Given the description of an element on the screen output the (x, y) to click on. 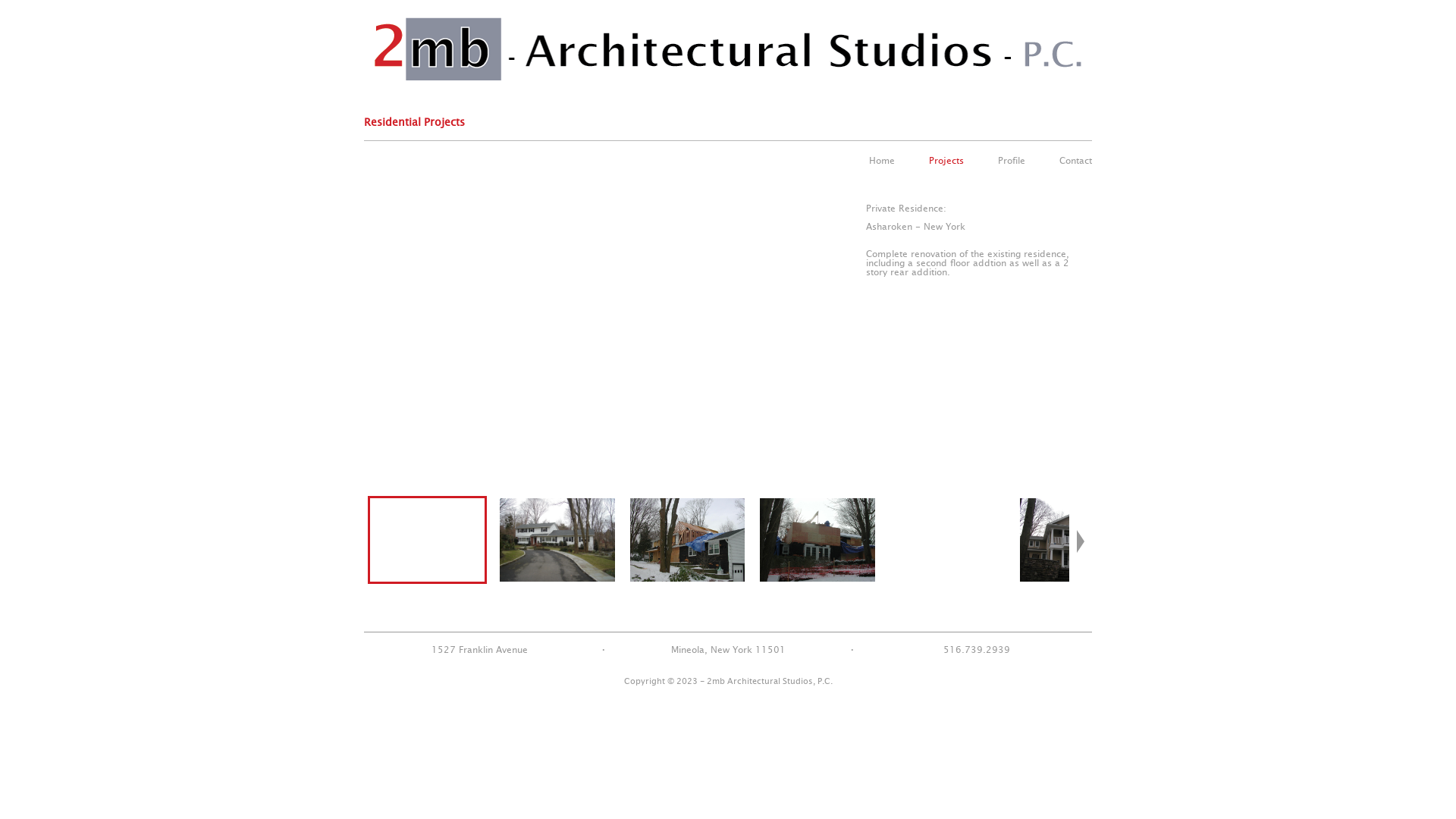
Contact Element type: text (1075, 160)
Profile Element type: text (1011, 160)
Home Element type: text (881, 160)
Projects Element type: text (945, 160)
